Given the description of an element on the screen output the (x, y) to click on. 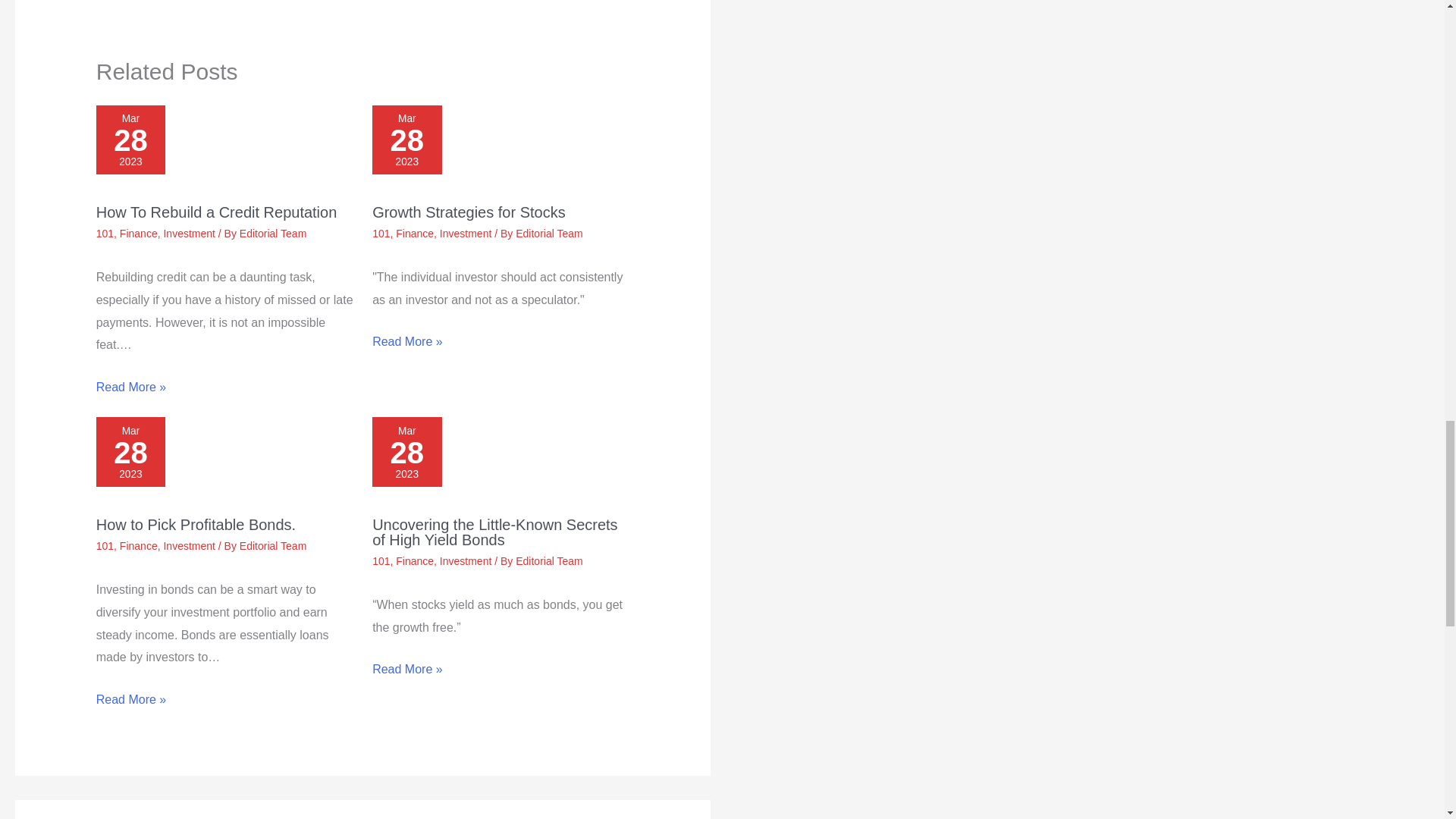
View all posts by Editorial Team (272, 545)
View all posts by Editorial Team (272, 233)
View all posts by Editorial Team (548, 233)
View all posts by Editorial Team (548, 561)
